Given the description of an element on the screen output the (x, y) to click on. 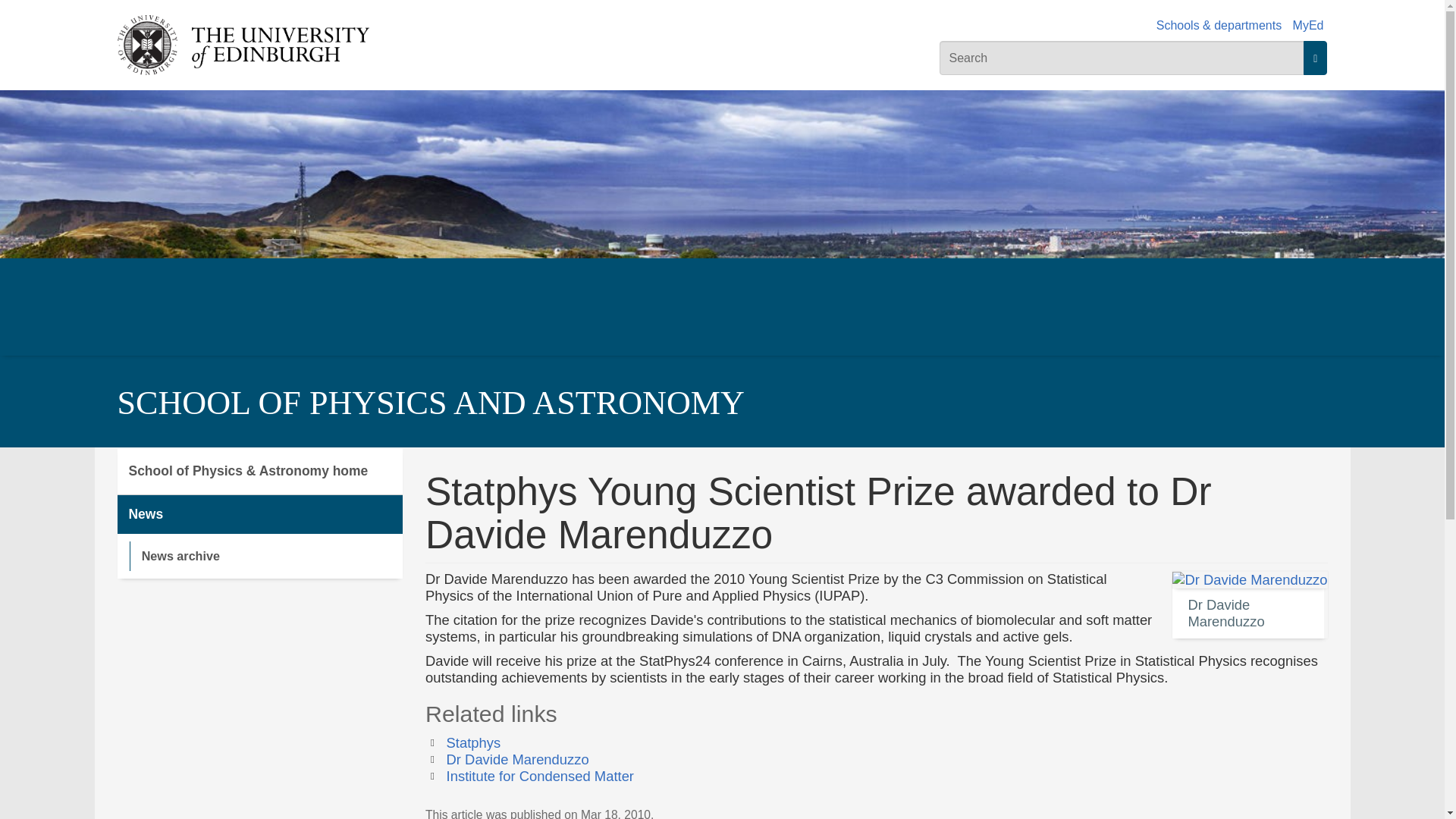
News archive (266, 555)
SCHOOL OF PHYSICS AND ASTRONOMY (430, 402)
Statphys (473, 742)
Institute for Condensed Matter (539, 775)
News (259, 514)
MyEd (1307, 24)
Dr Davide Marenduzzo (517, 759)
